Given the description of an element on the screen output the (x, y) to click on. 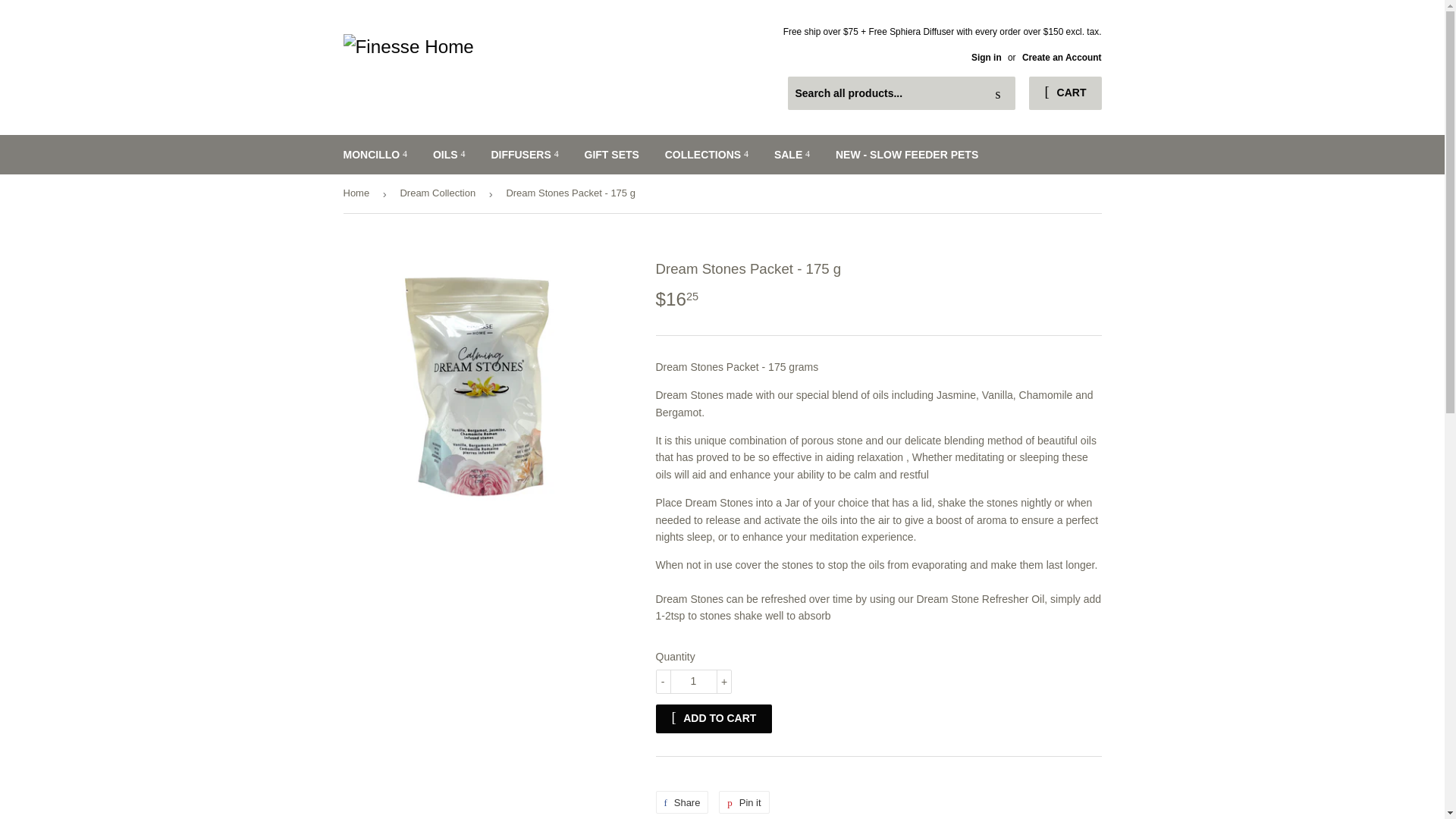
Create an Account (1062, 57)
Share on Facebook (681, 802)
DIFFUSERS (524, 154)
Pin on Pinterest (743, 802)
Sign in (986, 57)
COLLECTIONS (706, 154)
Search (997, 93)
CART (1064, 92)
GIFT SETS (611, 154)
MONCILLO (375, 154)
